Given the description of an element on the screen output the (x, y) to click on. 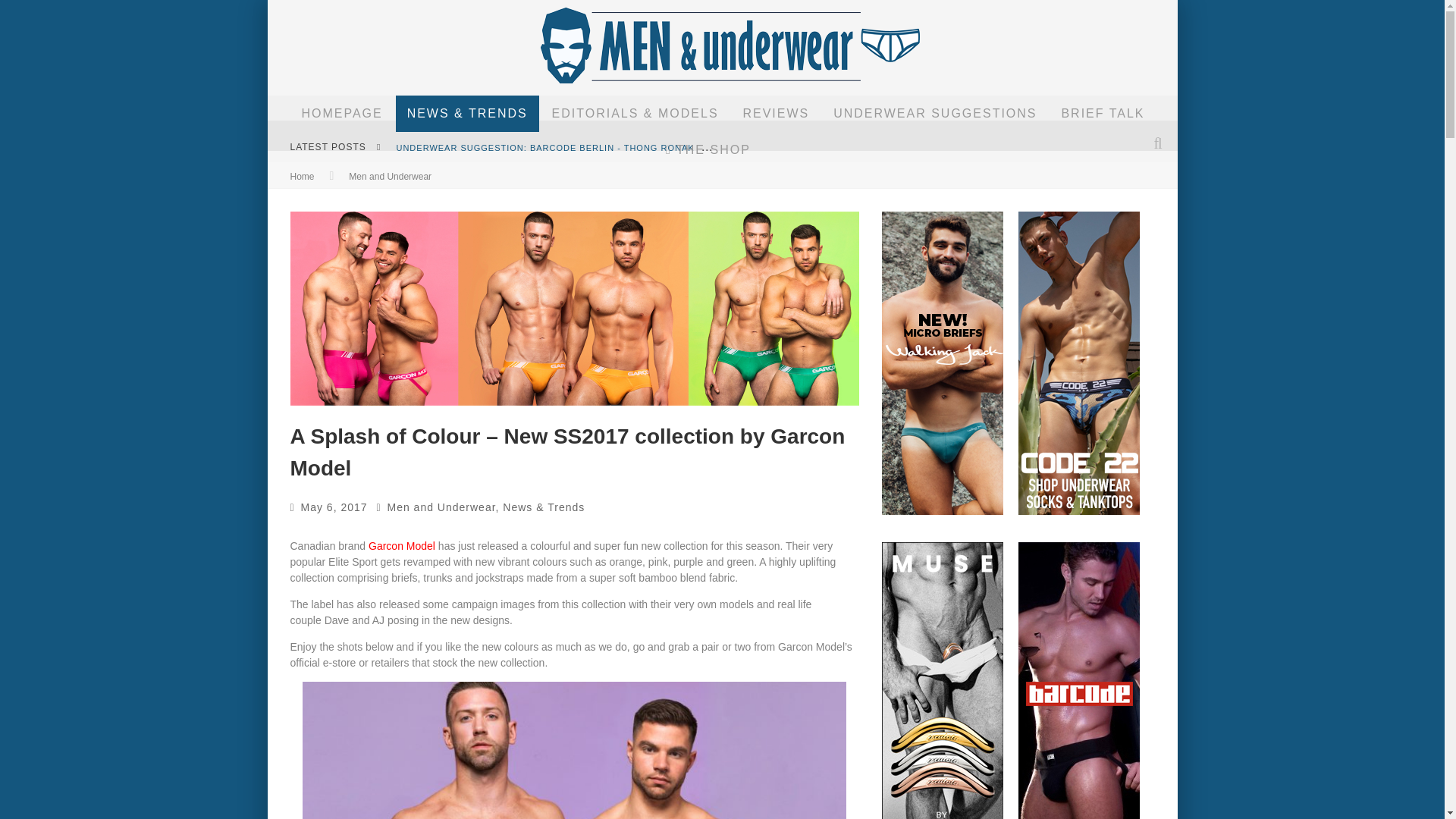
HOMEPAGE (341, 113)
View all posts in Men and Underwear (389, 176)
